Given the description of an element on the screen output the (x, y) to click on. 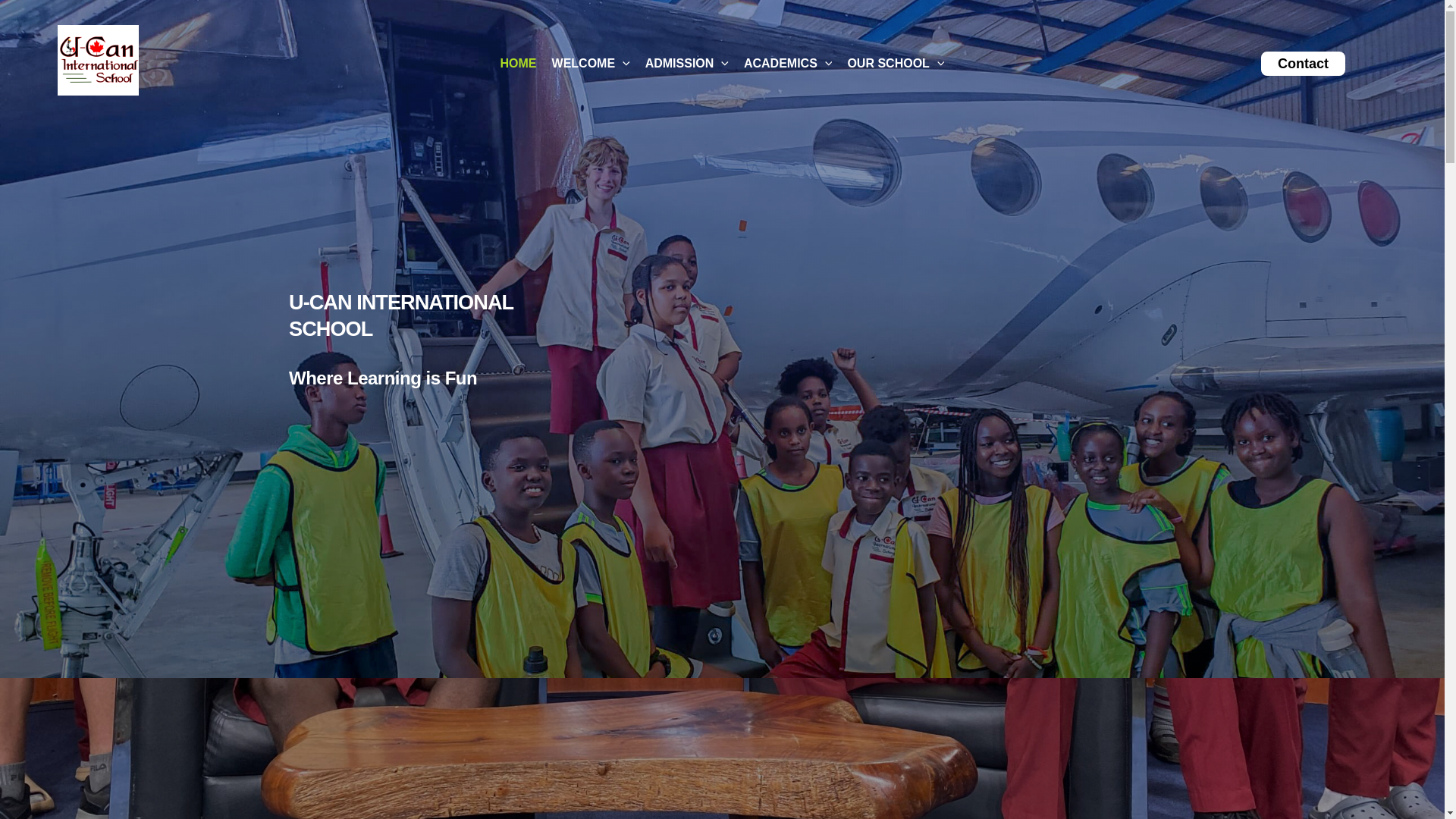
Contact (1310, 63)
